Given the description of an element on the screen output the (x, y) to click on. 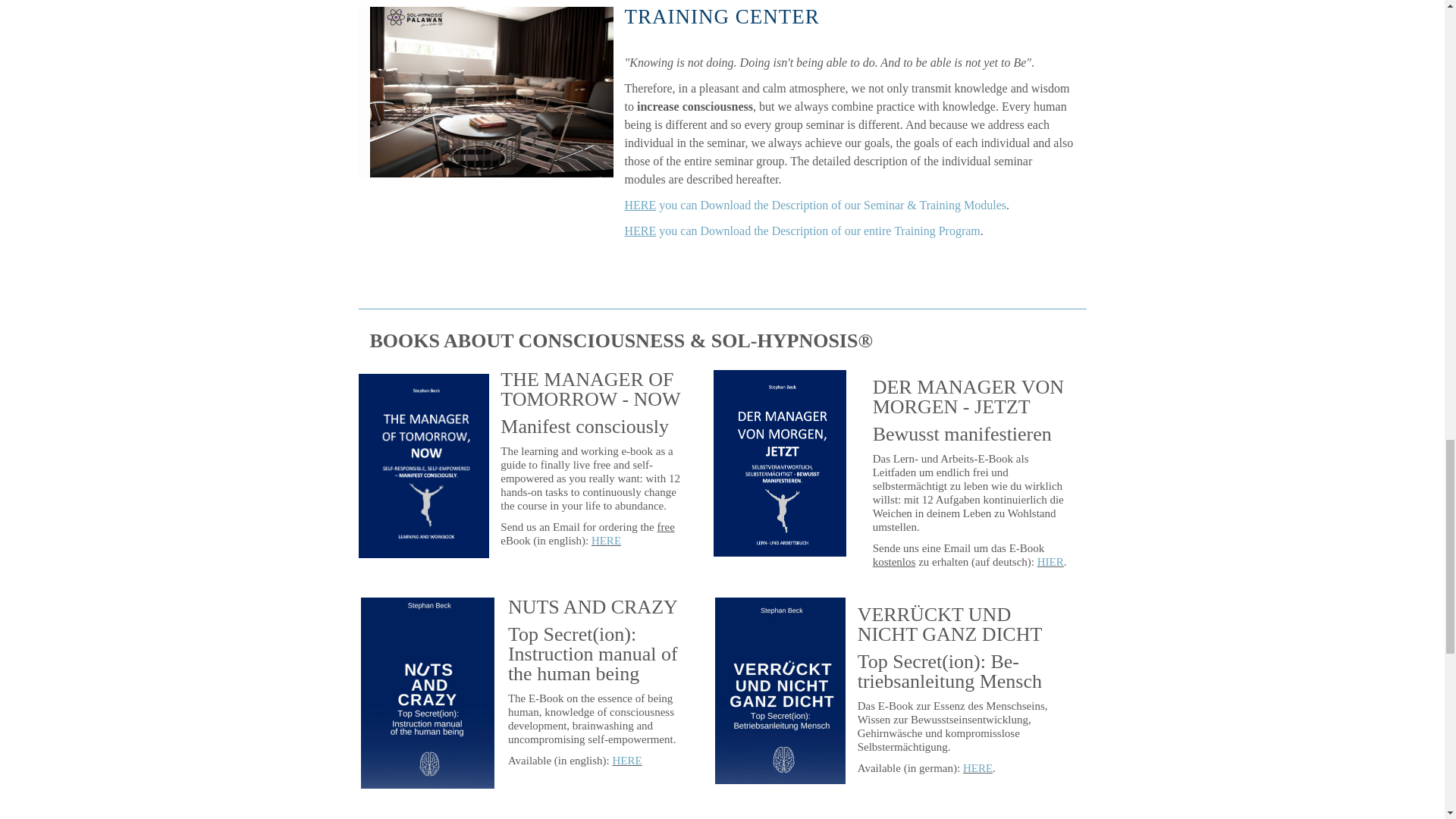
HERE (977, 767)
HERE (606, 540)
HERE (627, 760)
HIER (1050, 562)
